Given the description of an element on the screen output the (x, y) to click on. 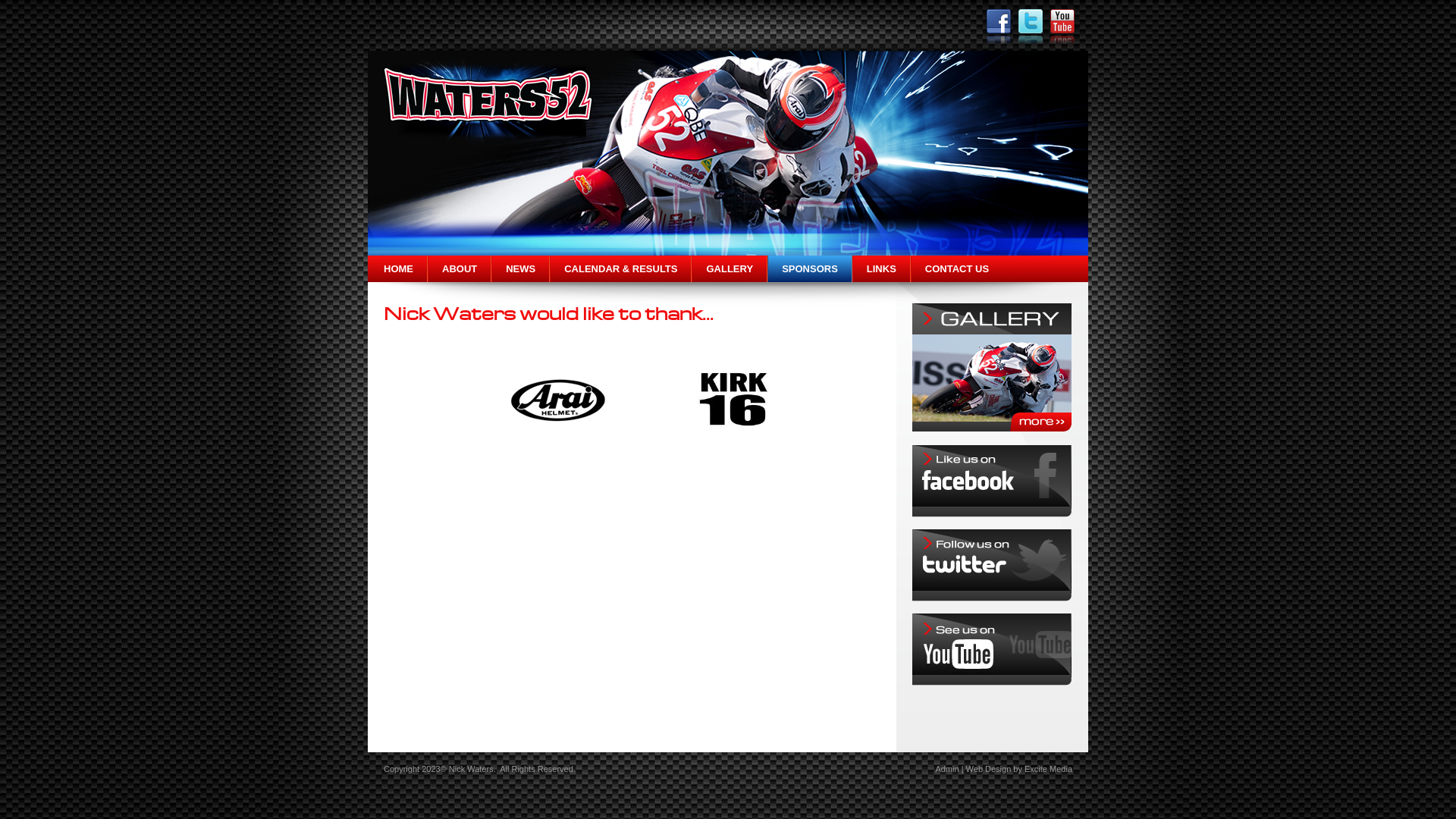
CONTACT US Element type: text (956, 268)
CALENDAR & RESULTS Element type: text (620, 268)
LINKS Element type: text (881, 268)
HOME Element type: text (397, 268)
NEWS Element type: text (520, 268)
Web Design by Excite Media Element type: text (1019, 768)
Admin Element type: text (946, 768)
SPONSORS Element type: text (809, 268)
GALLERY Element type: text (729, 268)
ABOUT Element type: text (459, 268)
